Given the description of an element on the screen output the (x, y) to click on. 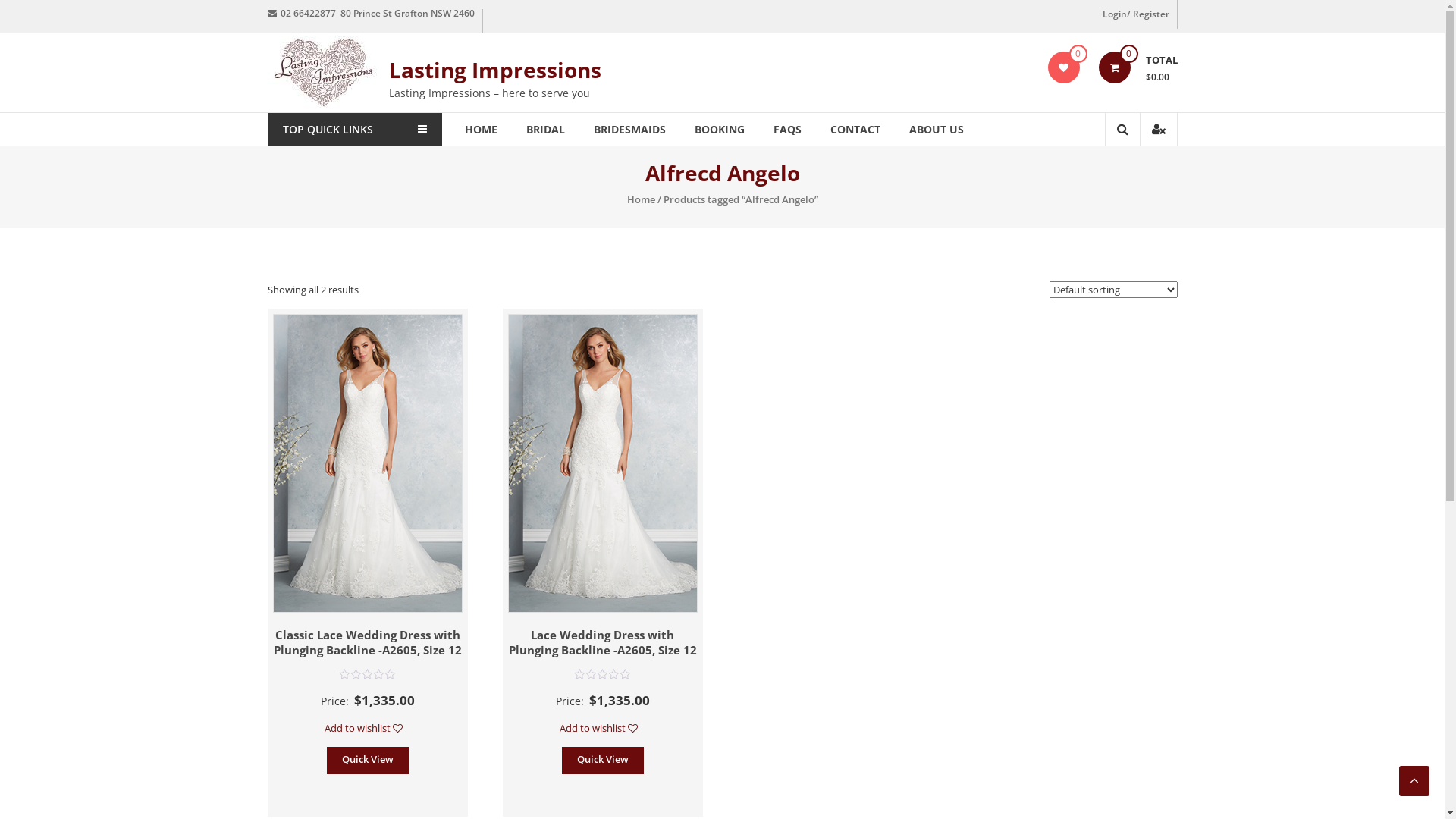
Login/ Register Element type: text (1136, 14)
BRIDESMAIDS Element type: text (629, 128)
BOOKING Element type: text (719, 128)
Home Element type: text (640, 199)
Add to wishlist Element type: text (367, 727)
CONTACT Element type: text (854, 128)
Lace Wedding Dress with Plunging Backline -A2605, Size 12 Element type: text (602, 642)
0 Element type: text (1063, 67)
BRIDAL Element type: text (545, 128)
ABOUT US Element type: text (935, 128)
Quick View Element type: text (602, 760)
Quick View Element type: text (367, 760)
Add to wishlist Element type: text (602, 727)
Search Element type: text (1112, 180)
HOME Element type: text (480, 128)
Lasting Impressions Element type: text (494, 69)
0 Element type: text (1113, 67)
FAQS Element type: text (787, 128)
